Given the description of an element on the screen output the (x, y) to click on. 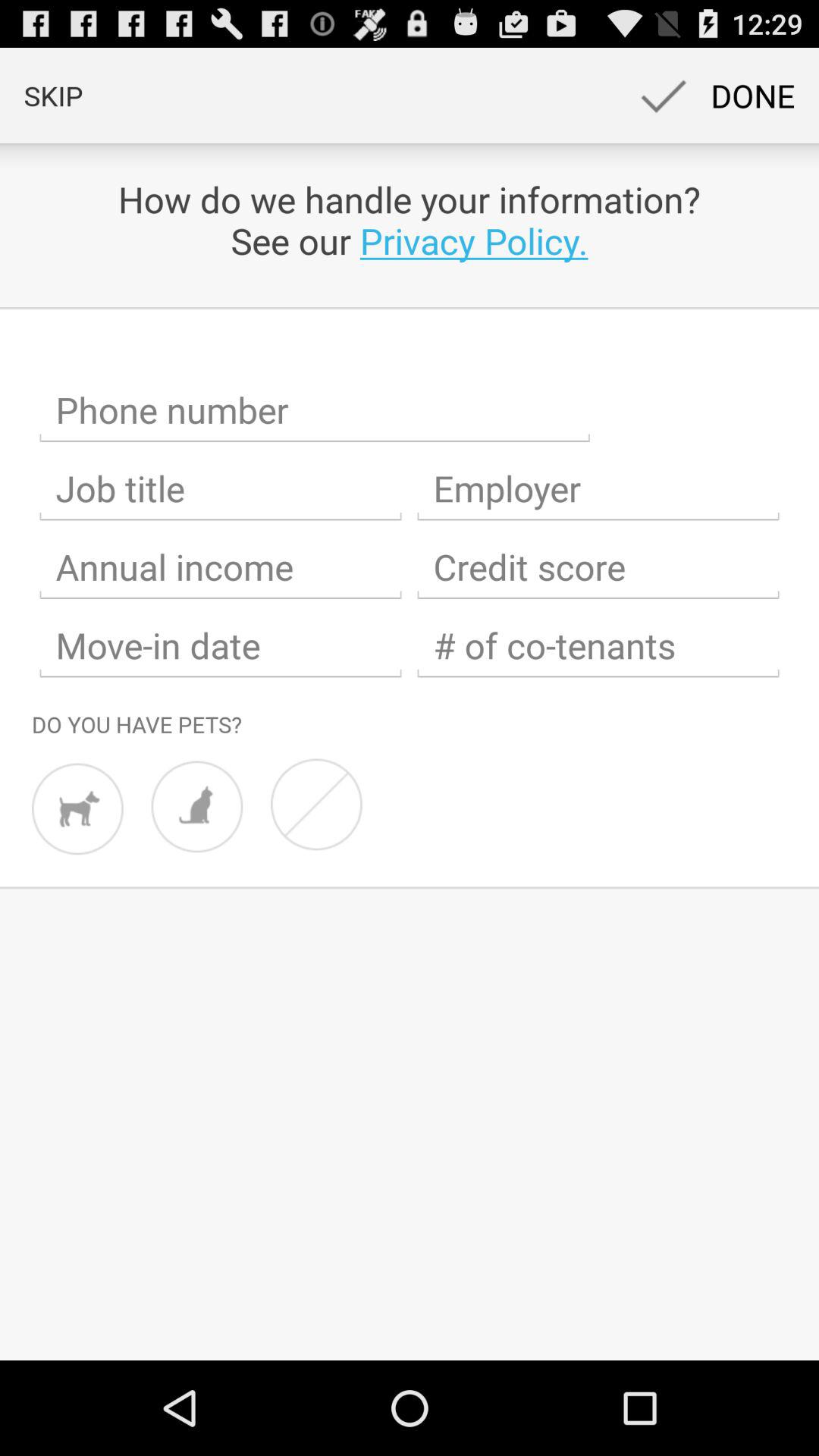
number of co-tenants (598, 645)
